Given the description of an element on the screen output the (x, y) to click on. 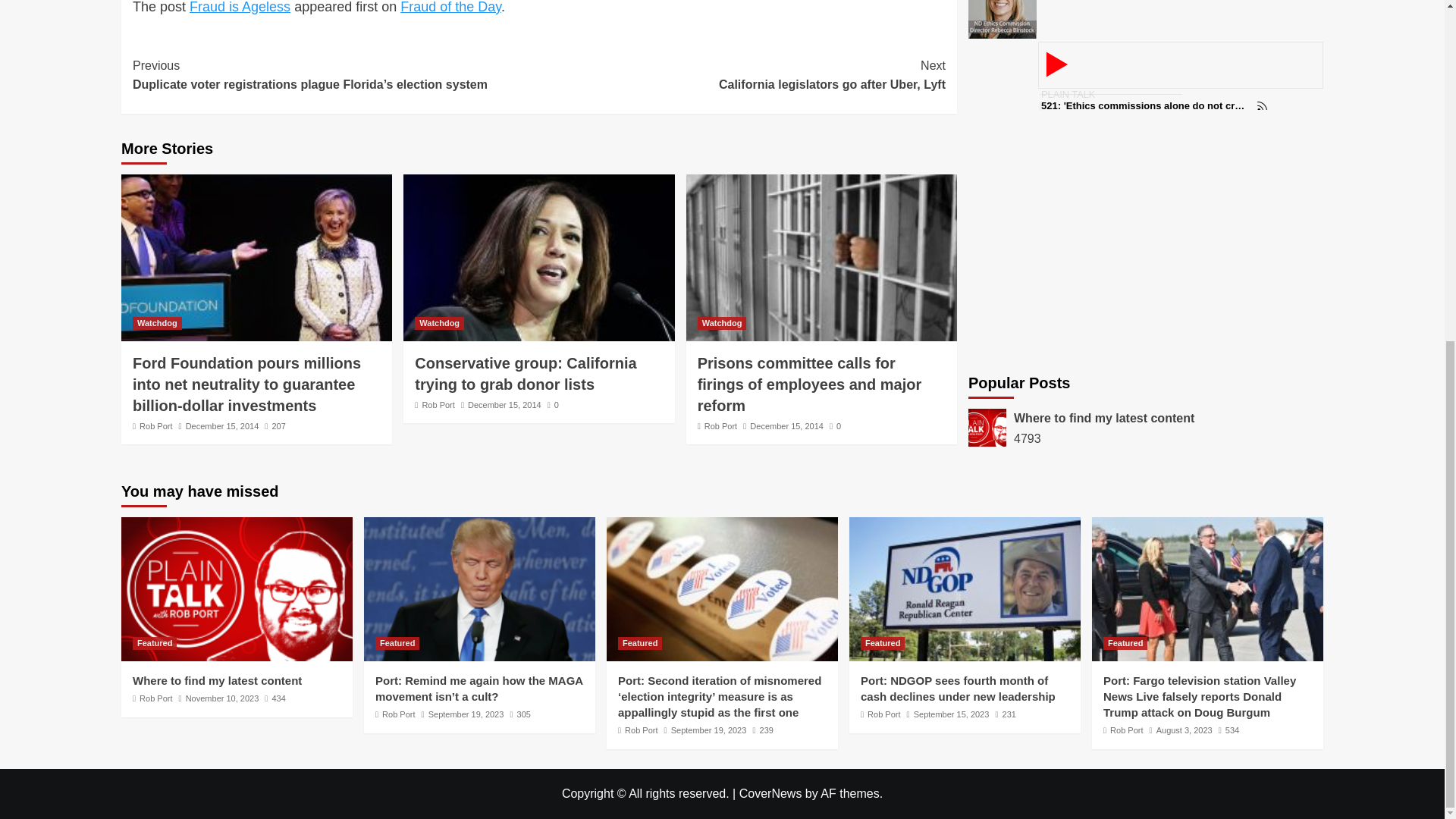
Conservative group: California trying to grab donor lists (525, 373)
207 (274, 425)
Rob Port (155, 425)
Watchdog (439, 323)
December 15, 2014 (741, 75)
0 (222, 425)
Fraud is Ageless (553, 404)
Rob Port (239, 7)
Watchdog (438, 404)
December 15, 2014 (157, 323)
Fraud of the Day (504, 404)
